Given the description of an element on the screen output the (x, y) to click on. 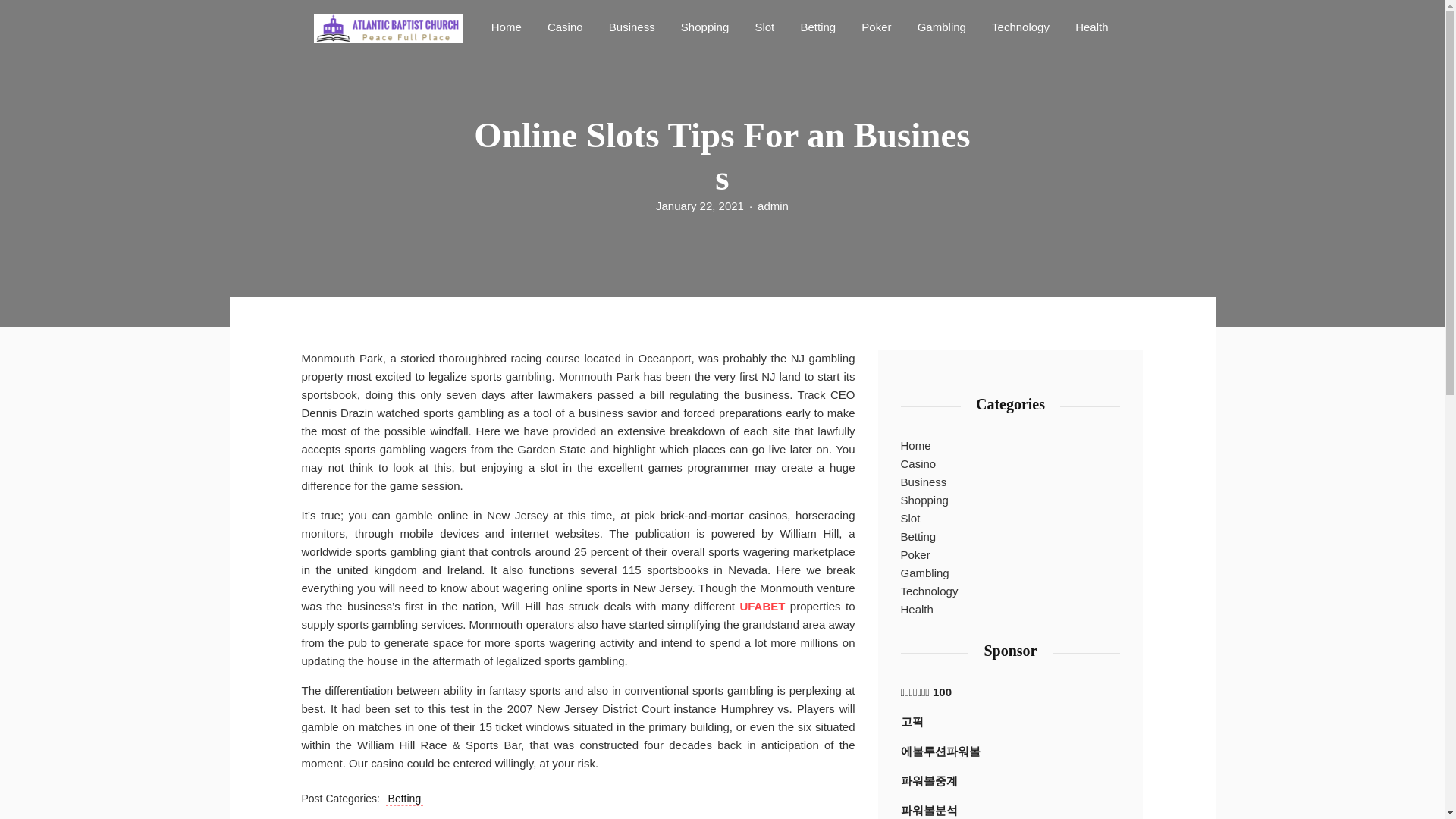
Technology (1020, 26)
January 22, 2021 (700, 205)
Betting (404, 798)
Betting (918, 536)
Shopping (925, 500)
Poker (875, 26)
Health (1091, 26)
Technology (1020, 26)
Health (1091, 26)
Betting (817, 26)
